Given the description of an element on the screen output the (x, y) to click on. 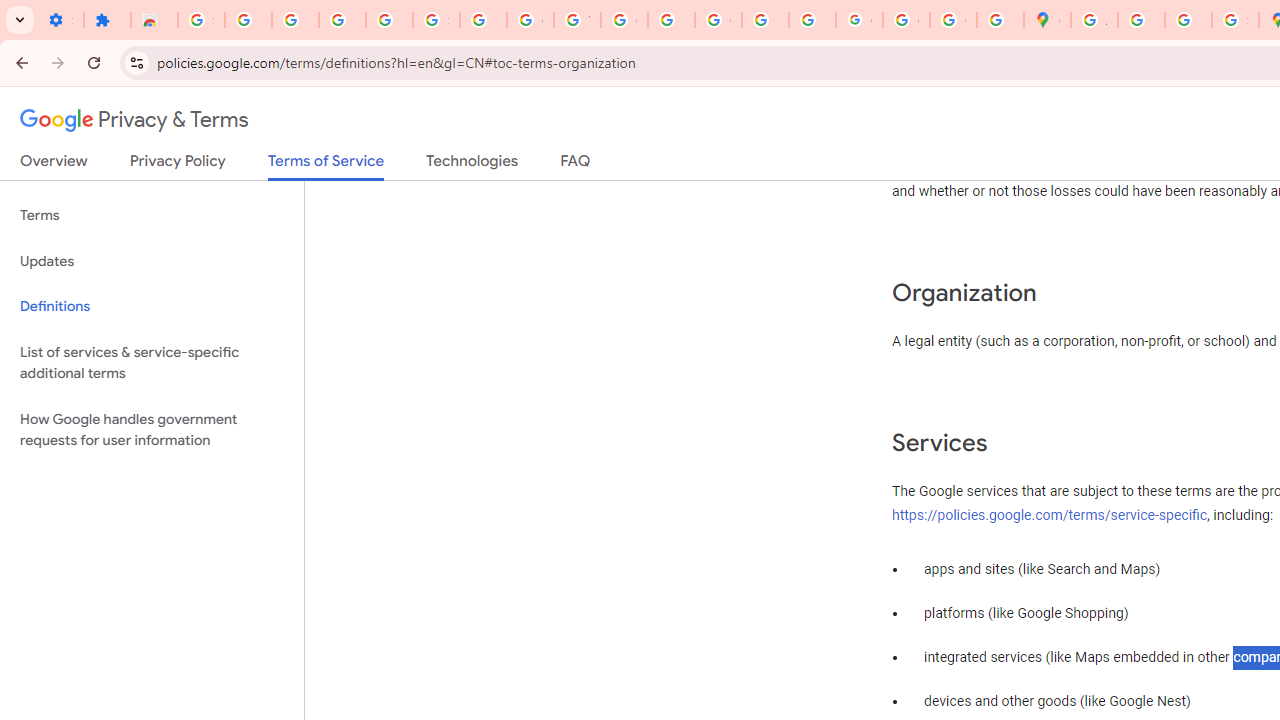
Technologies (472, 165)
Google Account (530, 20)
Sign in - Google Accounts (436, 20)
Settings - On startup (60, 20)
Privacy Policy (177, 165)
Delete photos & videos - Computer - Google Photos Help (294, 20)
